Given the description of an element on the screen output the (x, y) to click on. 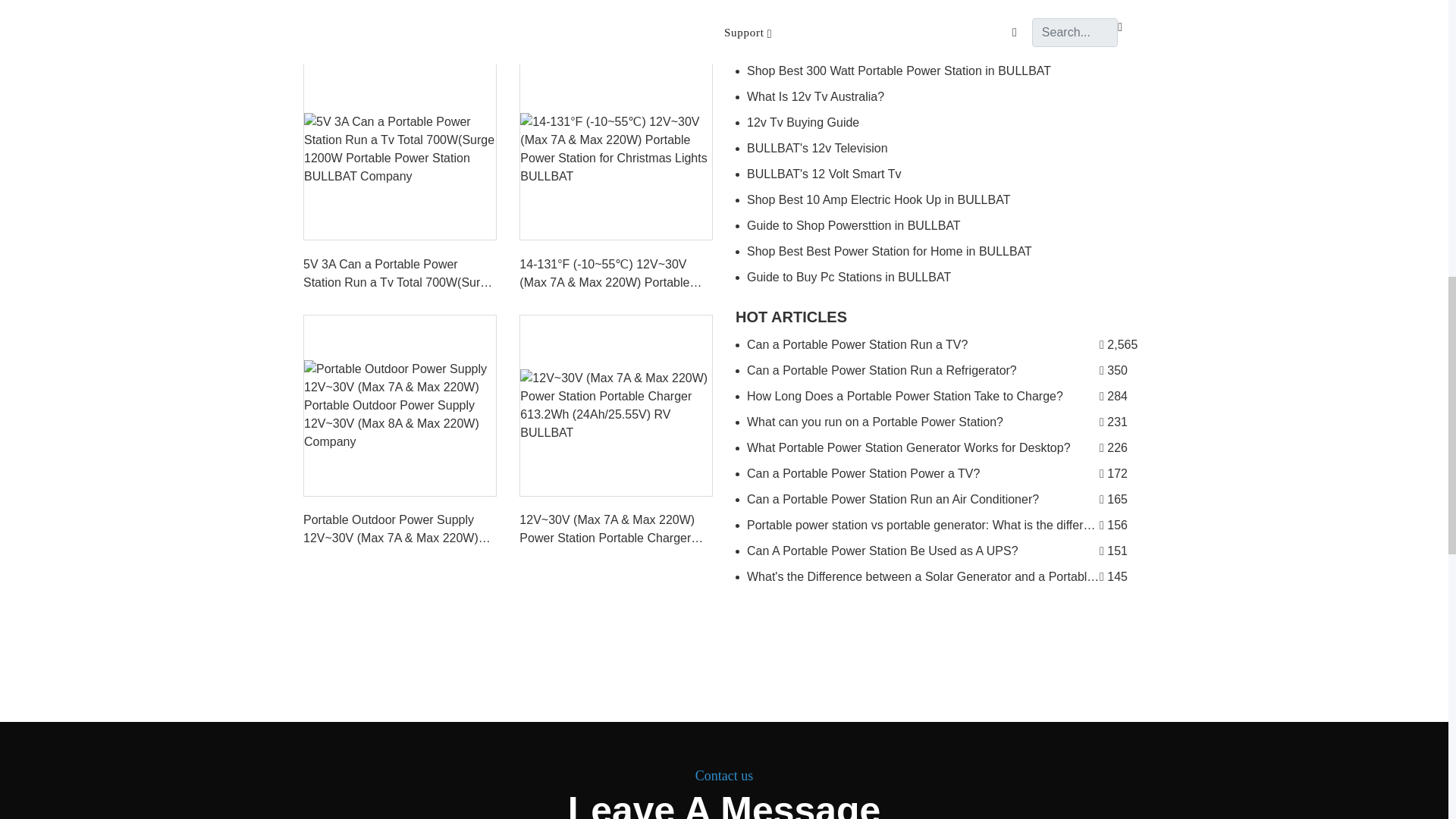
What Portable Power Station Generator Works for Desktop?  (939, 447)
Guide to Shop Powersttion in BULLBAT (939, 225)
What Is 12v Tv Australia? (939, 96)
BULLBAT's 12 Volt Smart Tv (939, 174)
Shop Best Best Power Station for Home in BULLBAT (939, 251)
What can you run on a Portable Power Station?  (939, 421)
Guide to Buy Pc Stations in BULLBAT (939, 277)
12v Tv Buying Guide (939, 122)
Can a Portable Power Station Run a TV? (939, 344)
Can a Portable Power Station Power a TV? (939, 473)
